Given the description of an element on the screen output the (x, y) to click on. 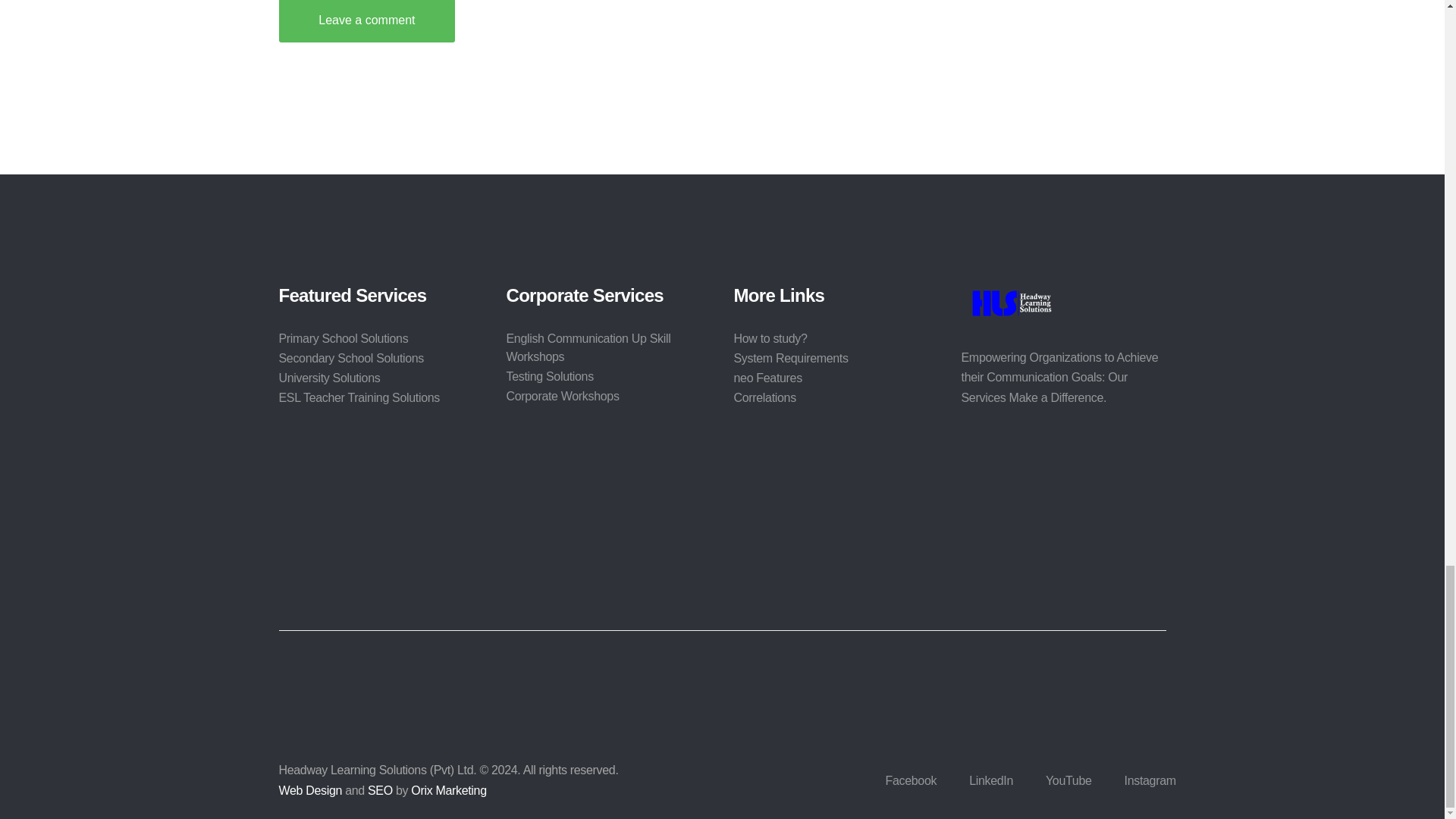
Leave a comment (367, 21)
Primary School Solutions (344, 338)
Secondary School Solutions (352, 358)
Leave a comment (367, 21)
